Given the description of an element on the screen output the (x, y) to click on. 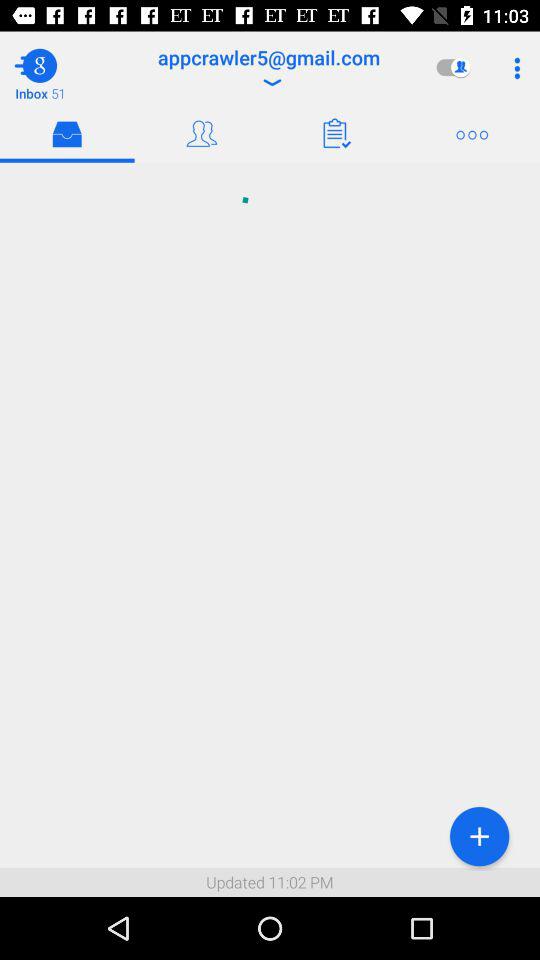
turn off icon next to the updated 11 02 icon (479, 836)
